Given the description of an element on the screen output the (x, y) to click on. 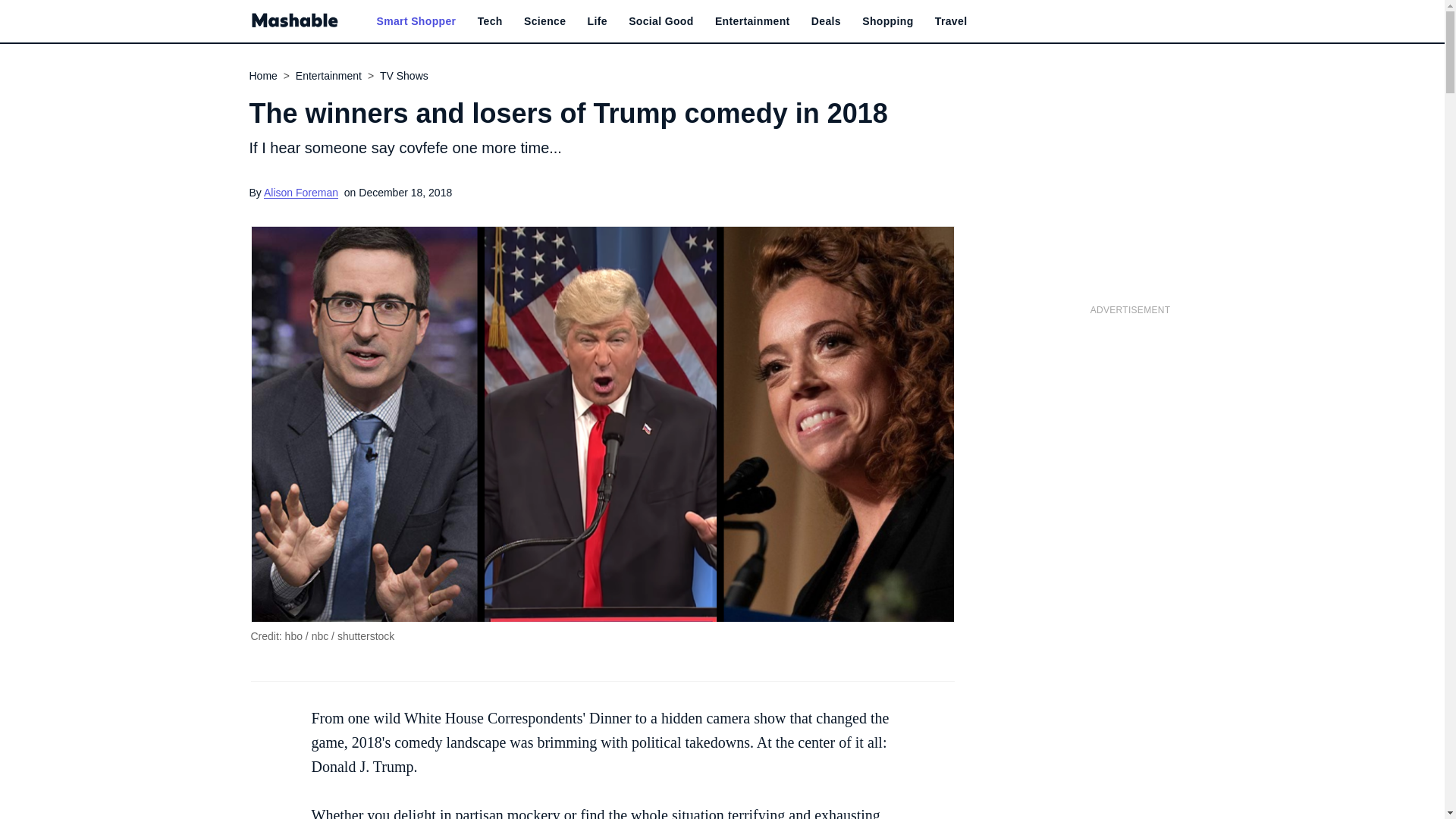
Smart Shopper (415, 21)
Science (545, 21)
Life (597, 21)
Shopping (886, 21)
Deals (825, 21)
Social Good (661, 21)
Tech (489, 21)
Entertainment (752, 21)
Travel (951, 21)
